Given the description of an element on the screen output the (x, y) to click on. 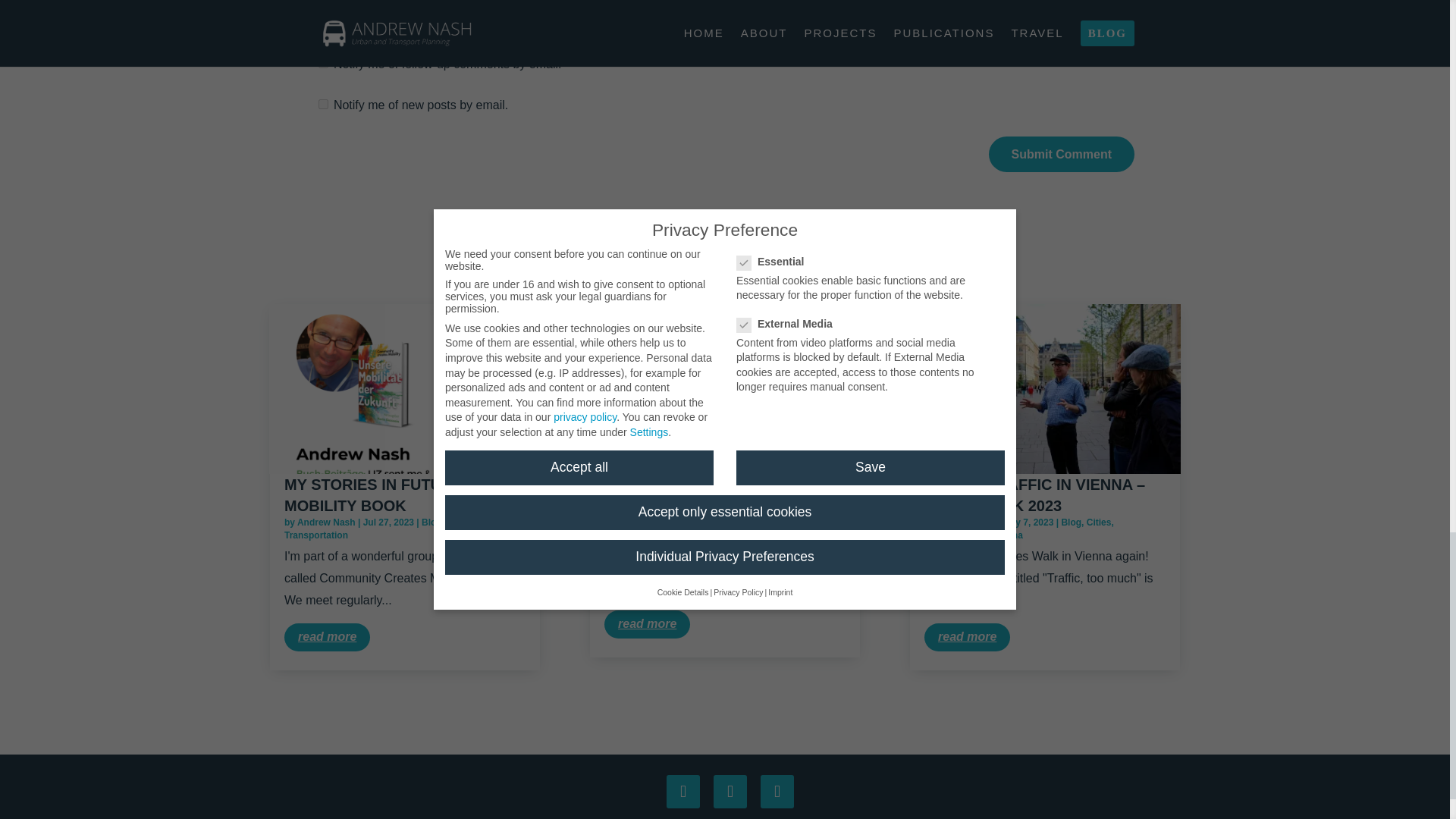
subscribe (323, 103)
Posts by Andrew Nash (646, 521)
Technology (471, 521)
Transportation (956, 534)
Vienna (1007, 534)
Blog (1071, 521)
Andrew Nash (646, 521)
MY STORIES IN FUTURE OF MOBILITY BOOK (385, 494)
Blog (432, 521)
read more (647, 624)
Submit Comment (1061, 153)
subscribe (323, 62)
Andrew Nash (326, 521)
Follow on Youtube (729, 791)
Cities (777, 521)
